Given the description of an element on the screen output the (x, y) to click on. 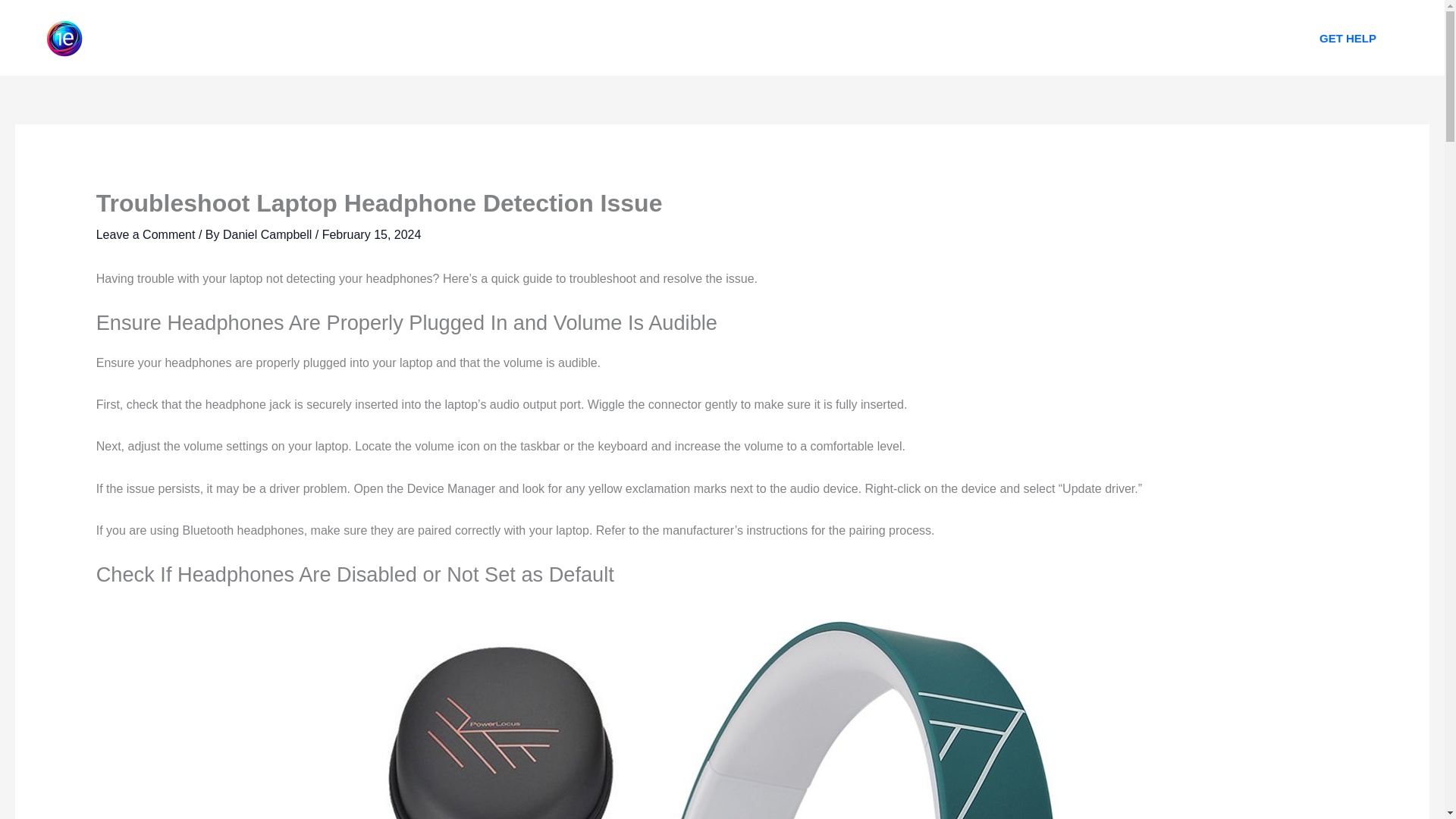
Leave a Comment (145, 234)
OFFERINGS (747, 37)
Daniel Campbell (268, 234)
GET HELP (1348, 38)
HOME (592, 37)
ABOUT (662, 37)
View all posts by Daniel Campbell (268, 234)
CONTACT (841, 37)
